Given the description of an element on the screen output the (x, y) to click on. 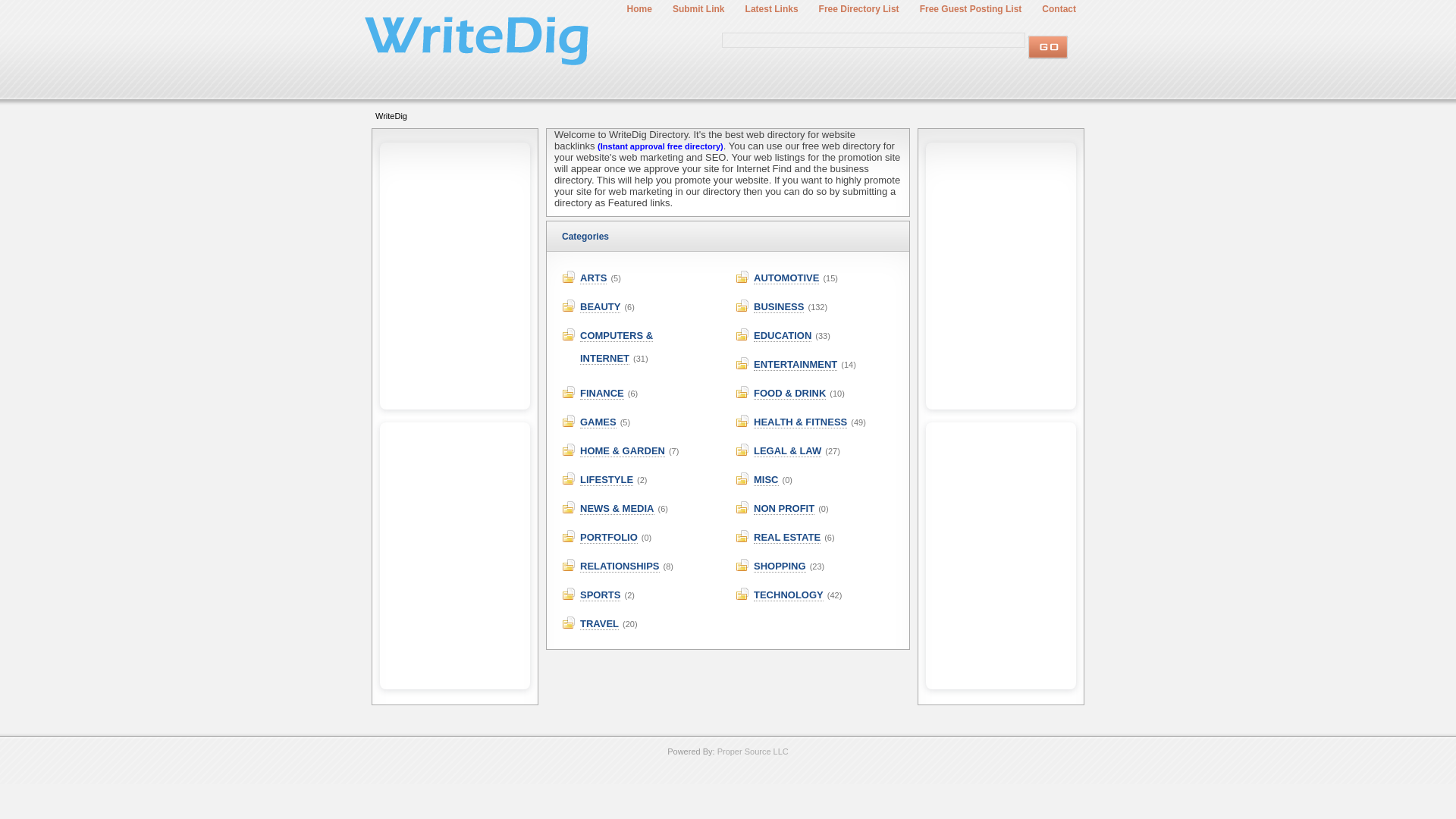
Home (639, 9)
Instant approval free directory (659, 145)
BEAUTY (599, 306)
Lifestyle (606, 480)
Misc (766, 480)
NON PROFIT (783, 508)
Non Profit (783, 508)
SHOPPING (780, 566)
WriteDig (391, 115)
AUTOMOTIVE (786, 277)
GO (1047, 47)
ARTS (593, 277)
Proper Source LLC (753, 750)
REAL ESTATE (787, 537)
Arts (593, 277)
